Given the description of an element on the screen output the (x, y) to click on. 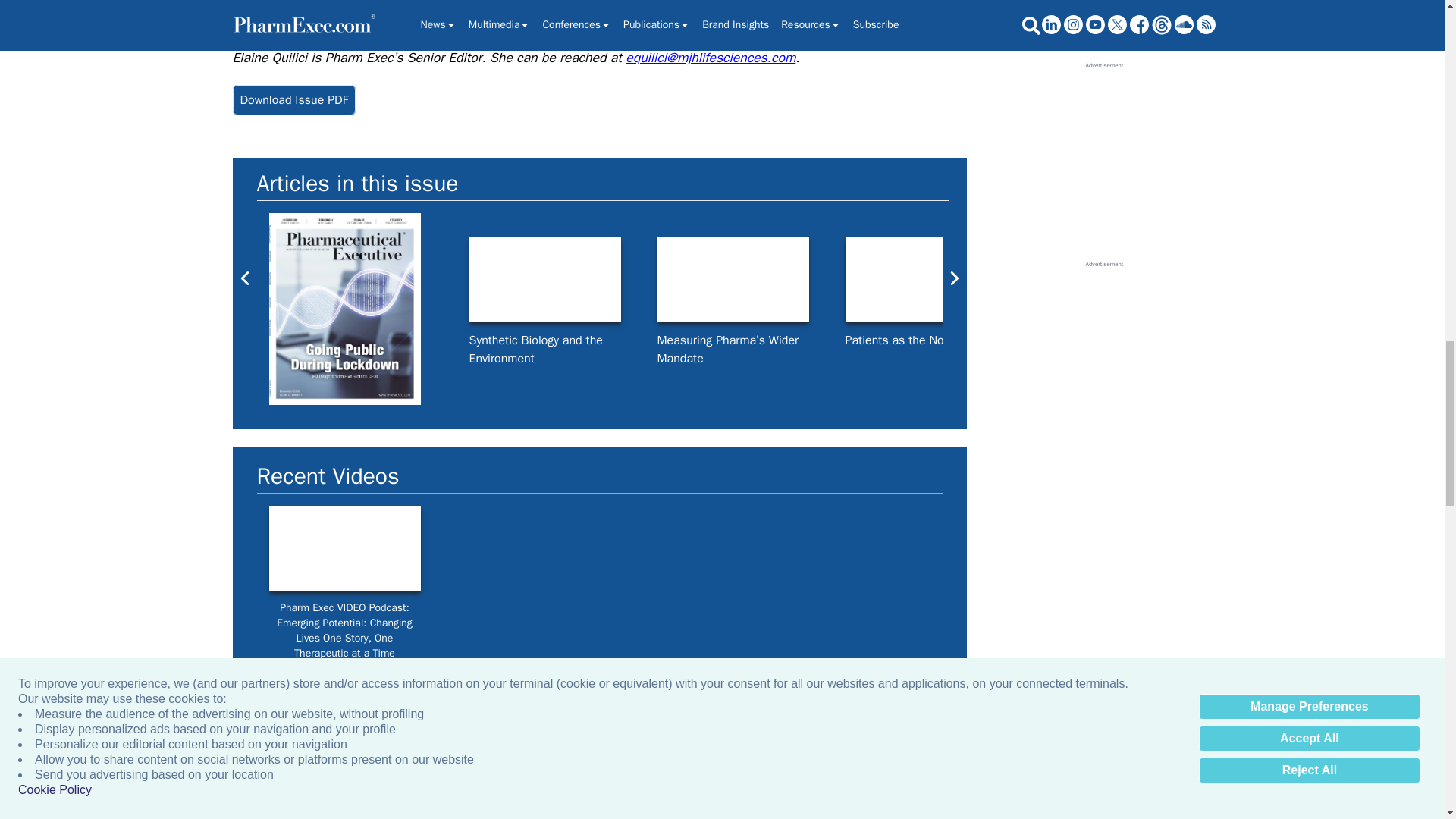
Patients as the North Star (919, 279)
Synthetic Biology and the Environment (544, 279)
A Rare-Disease Must? Building Long-Term Relationships (1297, 279)
